Given the description of an element on the screen output the (x, y) to click on. 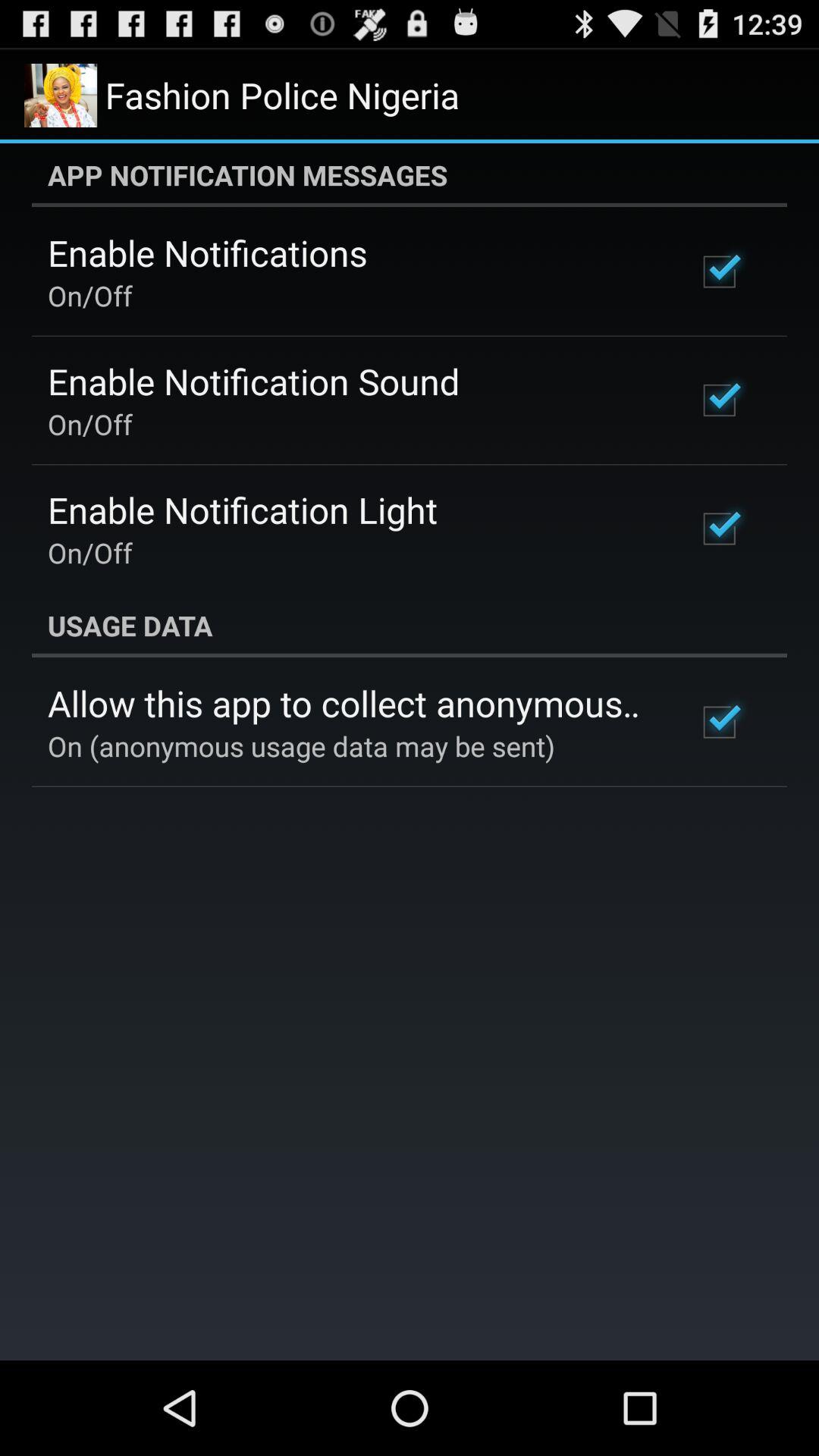
select app below the usage data item (351, 703)
